Given the description of an element on the screen output the (x, y) to click on. 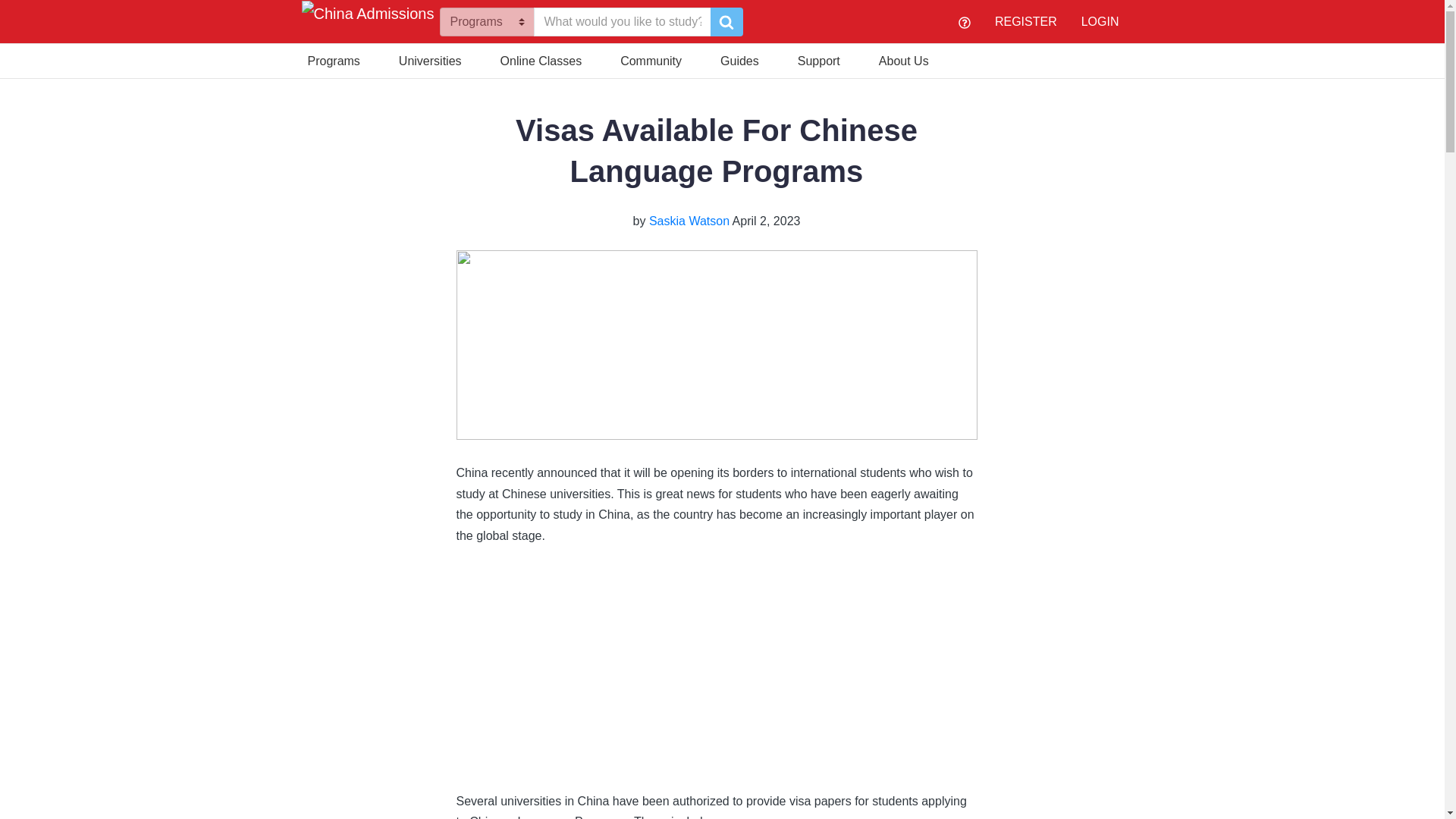
REGISTER (1025, 20)
Programs (333, 59)
LOGIN (1100, 20)
Visas For Chinese Language Students Available! (646, 665)
